Given the description of an element on the screen output the (x, y) to click on. 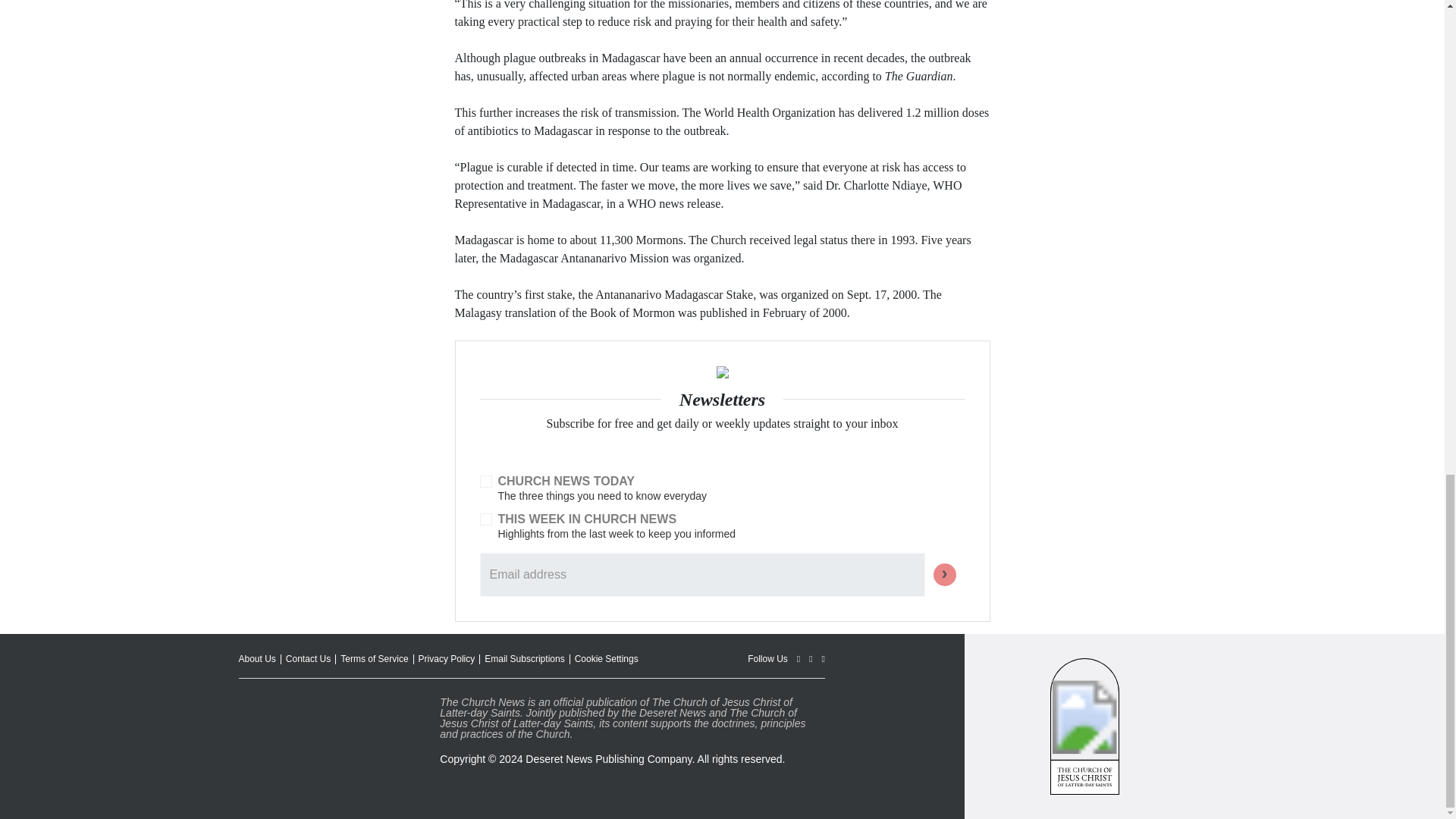
About Us (256, 658)
Terms of Service (373, 658)
Privacy Policy (447, 658)
Cookie Settings (607, 658)
Contact Us (307, 658)
Church News Today (485, 481)
This Week in Church News (485, 519)
Email Subscriptions (524, 658)
